Given the description of an element on the screen output the (x, y) to click on. 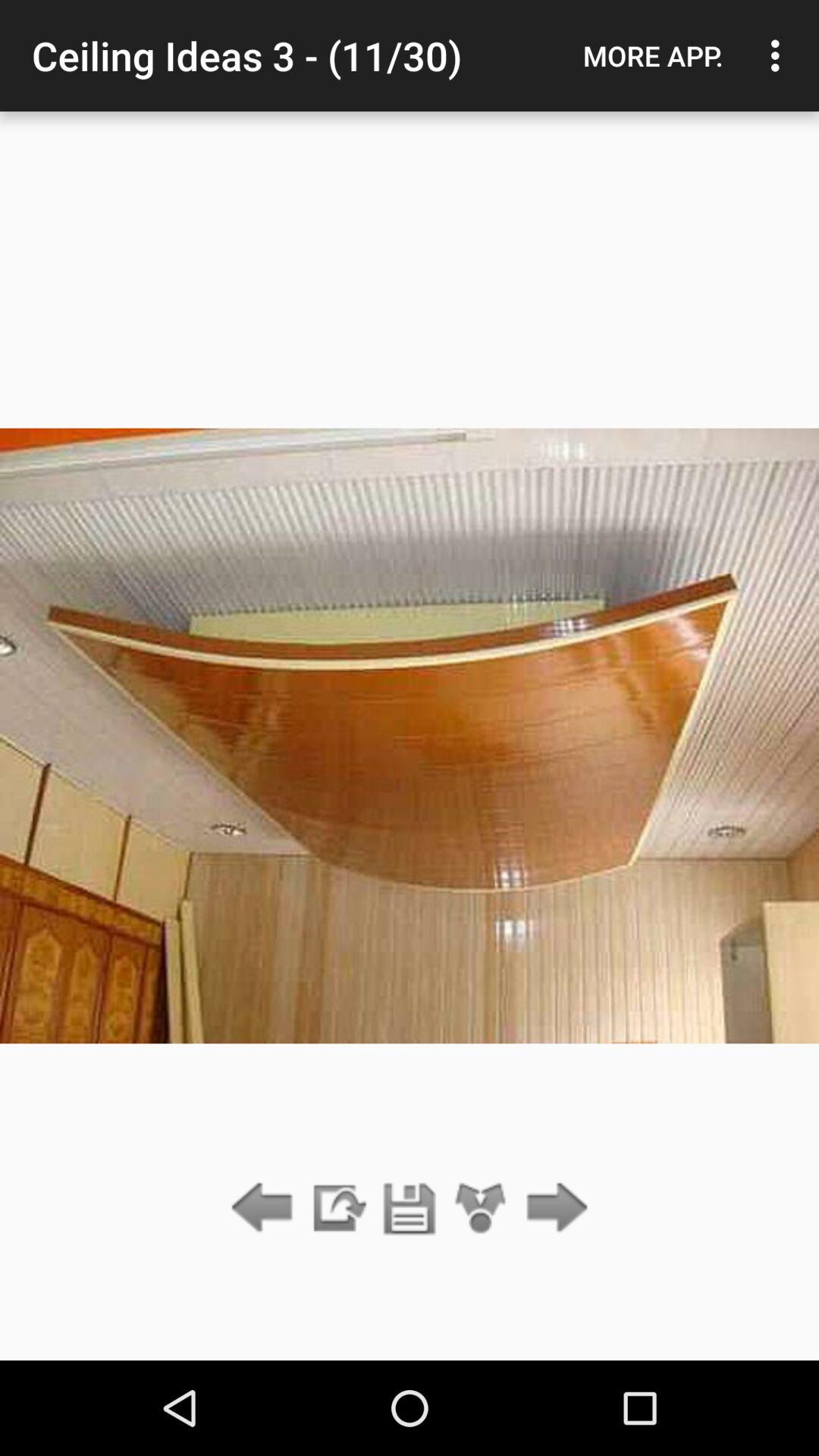
save (409, 1208)
